Given the description of an element on the screen output the (x, y) to click on. 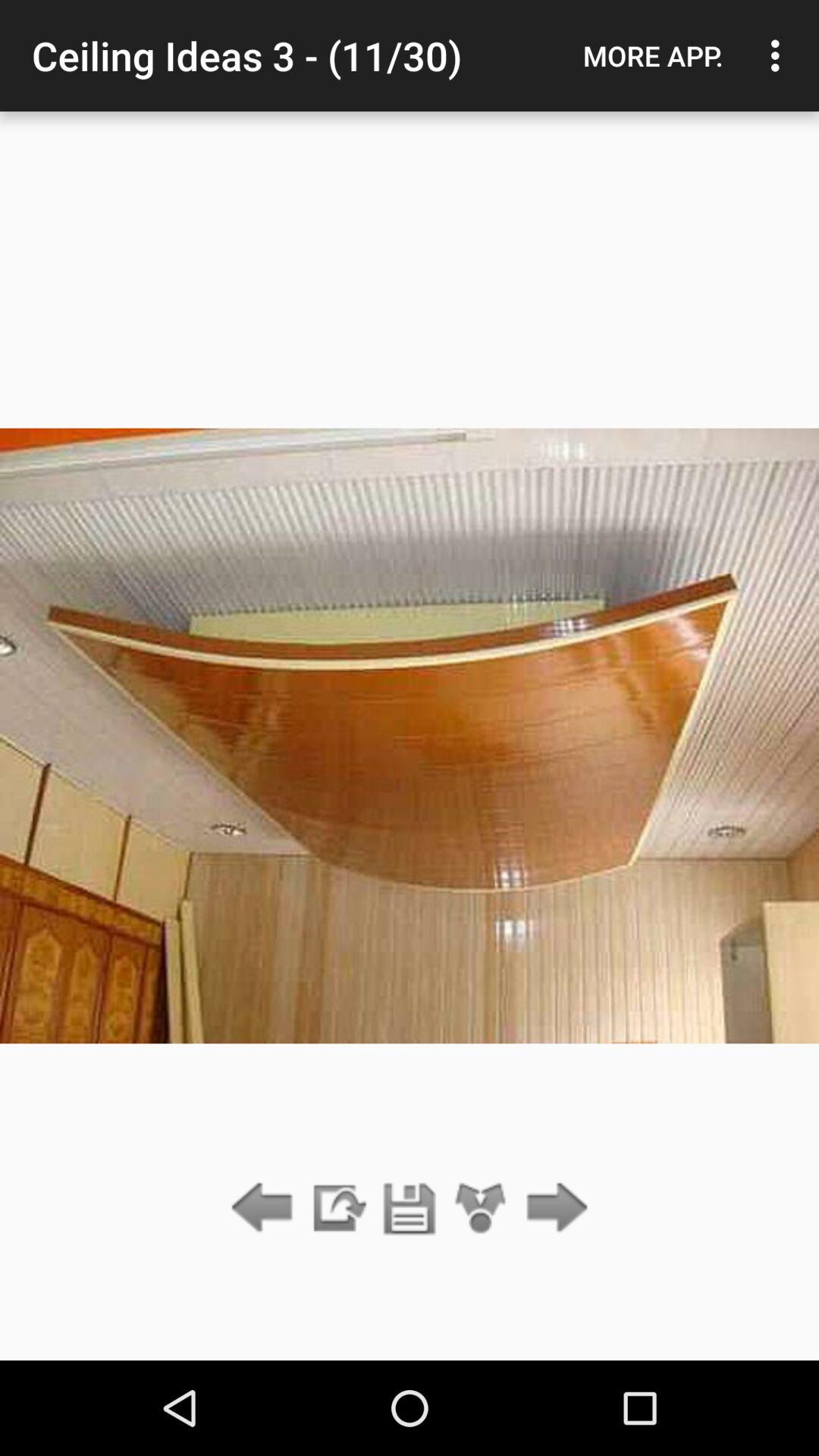
save (409, 1208)
